Given the description of an element on the screen output the (x, y) to click on. 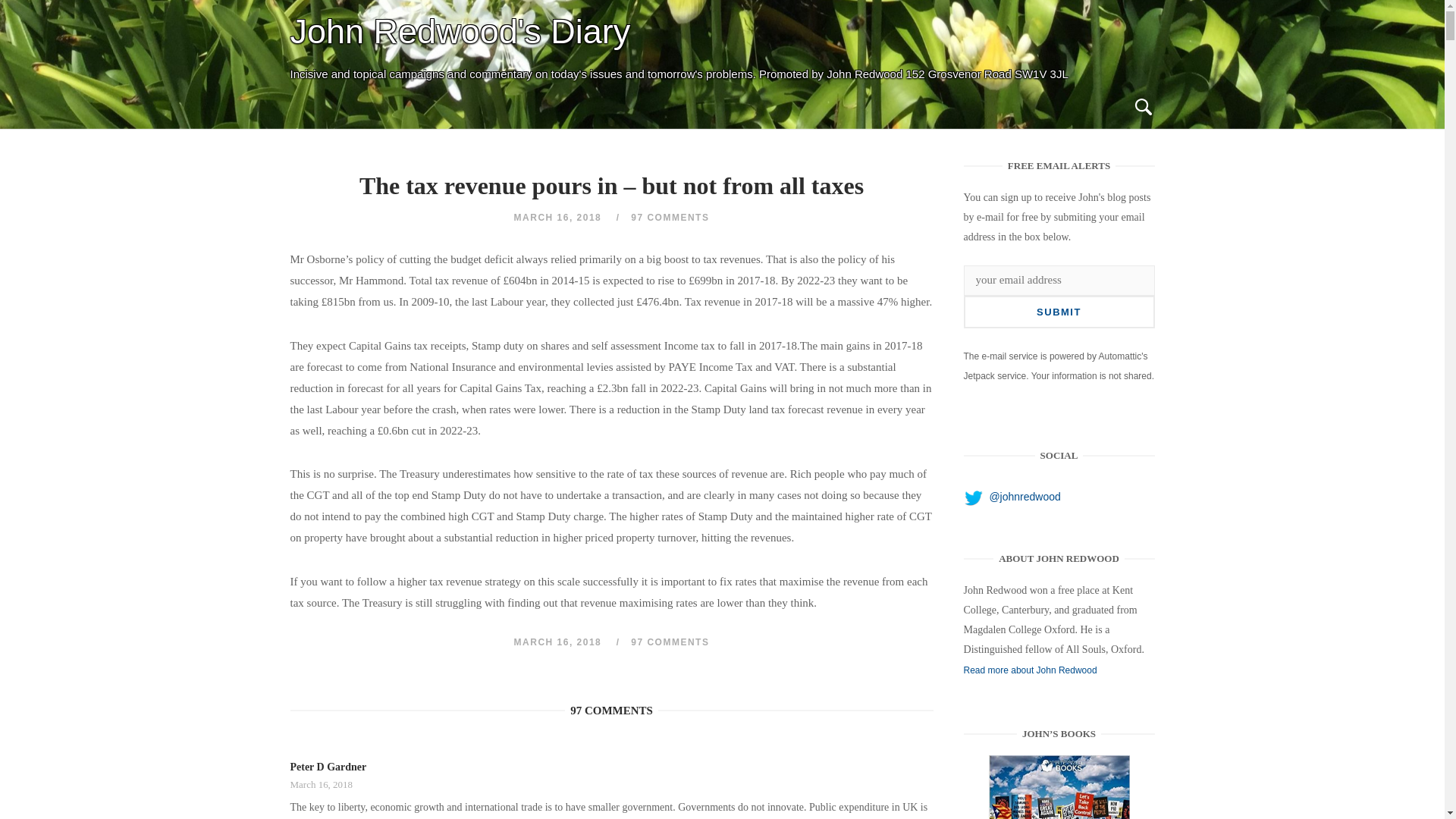
Read more about John Redwood (1030, 670)
Submit (1058, 311)
Submit (1058, 311)
Search the diary for relevant articles (1142, 107)
